Given the description of an element on the screen output the (x, y) to click on. 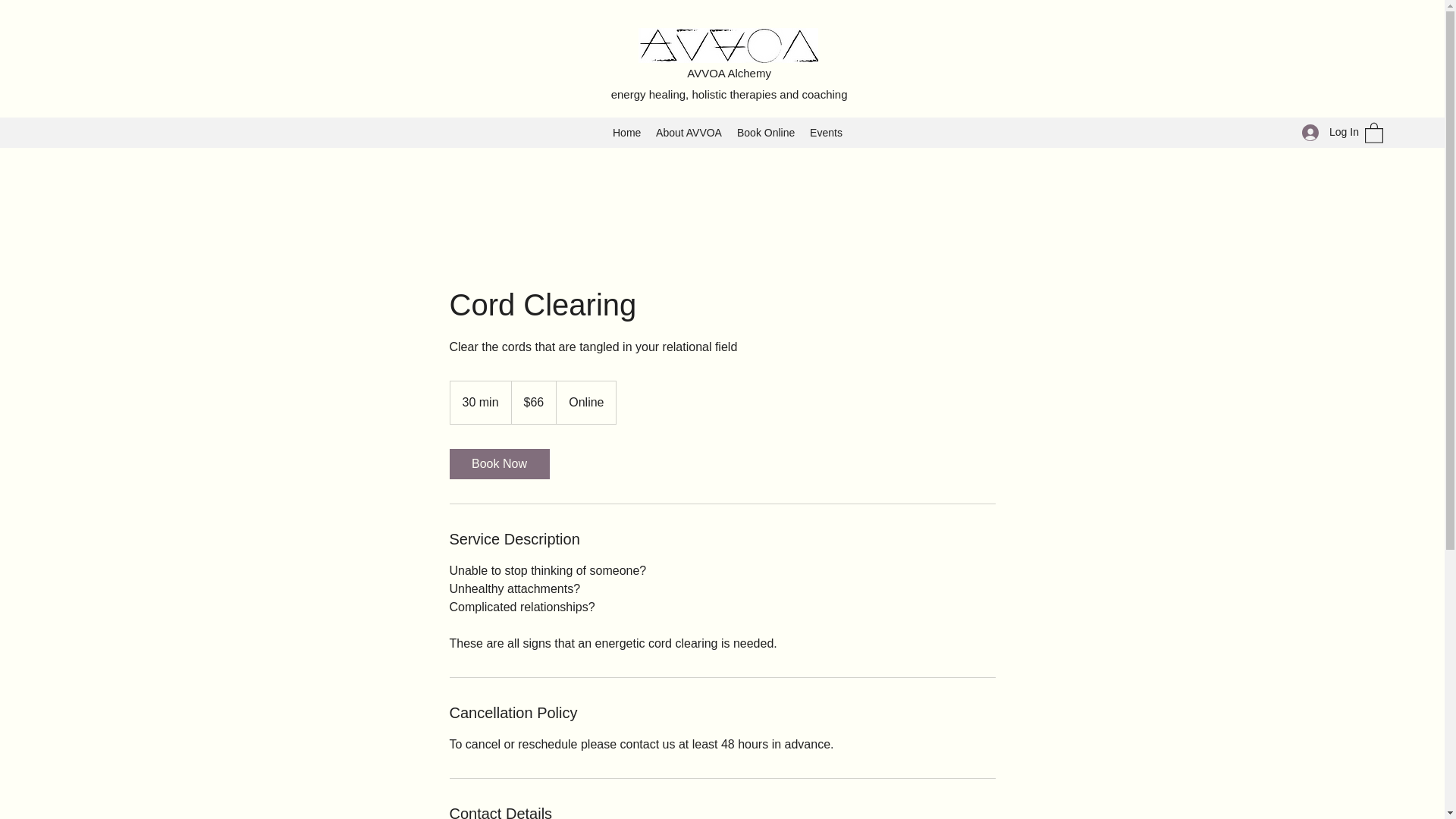
Events (826, 132)
Home (626, 132)
Book Now (498, 463)
About AVVOA (688, 132)
Book Online (765, 132)
Log In (1325, 131)
